Given the description of an element on the screen output the (x, y) to click on. 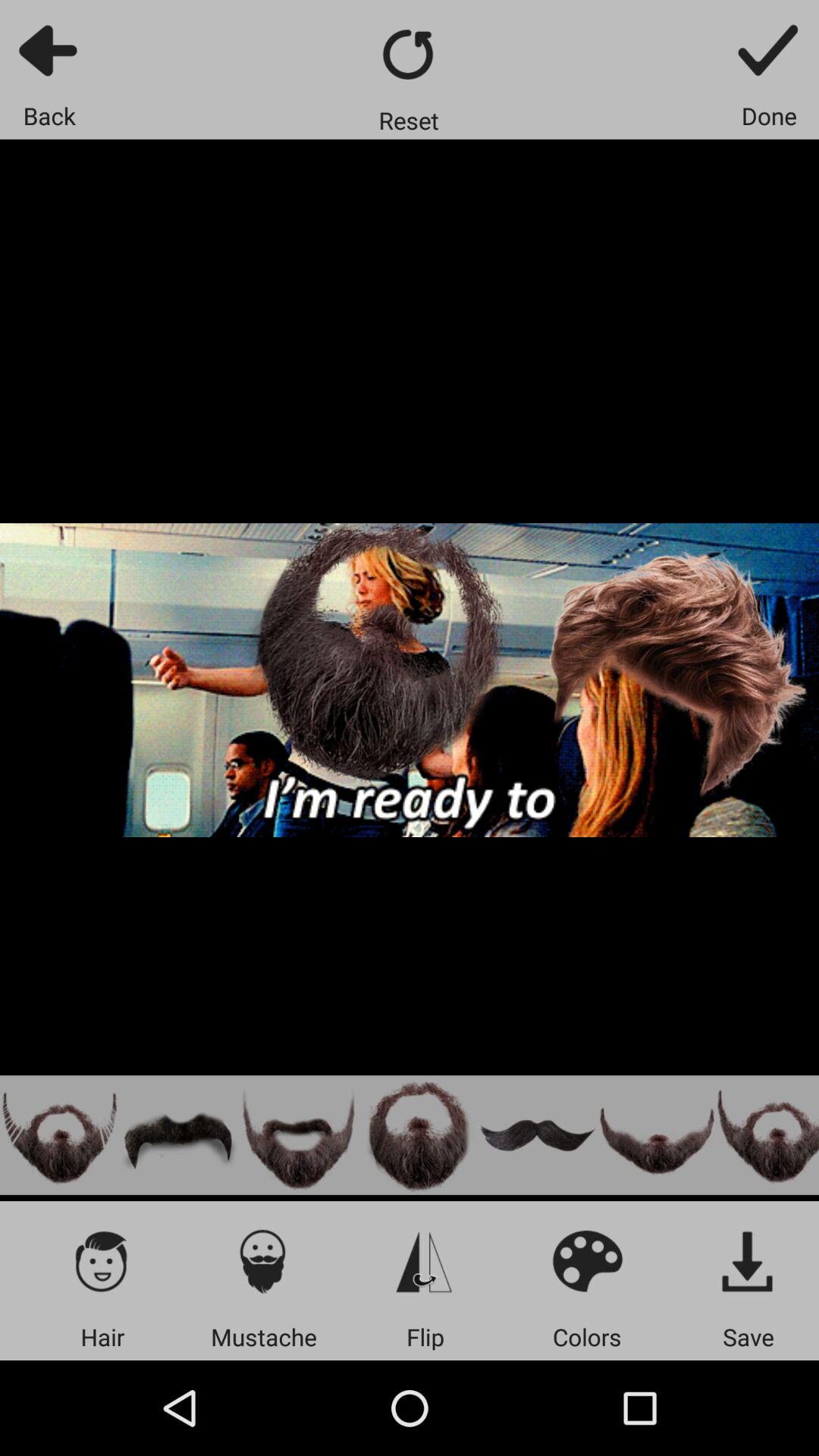
button image (656, 1134)
